Given the description of an element on the screen output the (x, y) to click on. 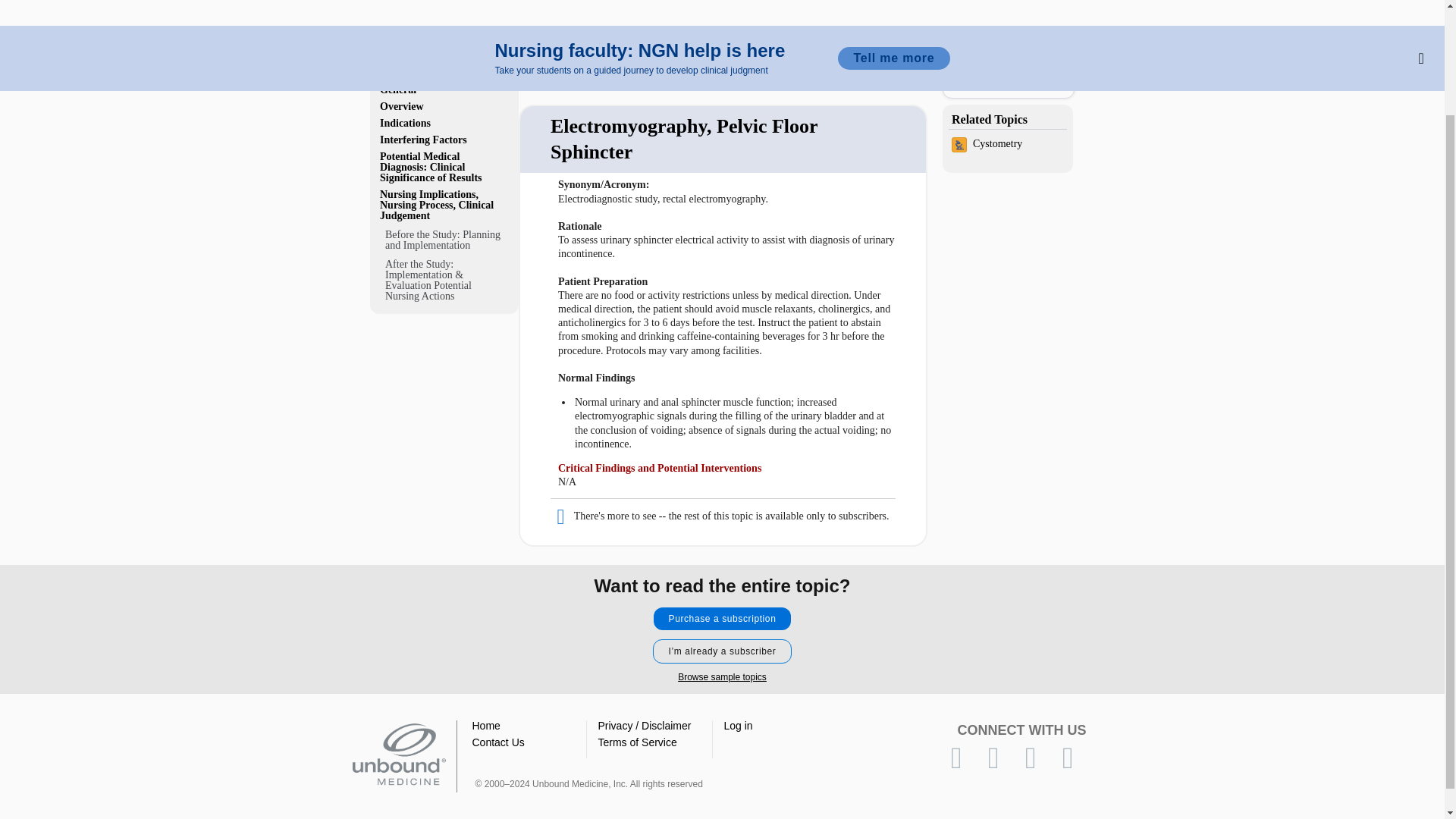
Create Citation (829, 54)
Search PRIME PubMed (1008, 85)
Tag Record (901, 54)
Print PDF (853, 54)
Nursing Implications, Nursing Process, Clinical Judgement (443, 205)
Interfering Factors (443, 139)
Share (780, 54)
Overview (443, 106)
Cystometry (1007, 146)
